Given the description of an element on the screen output the (x, y) to click on. 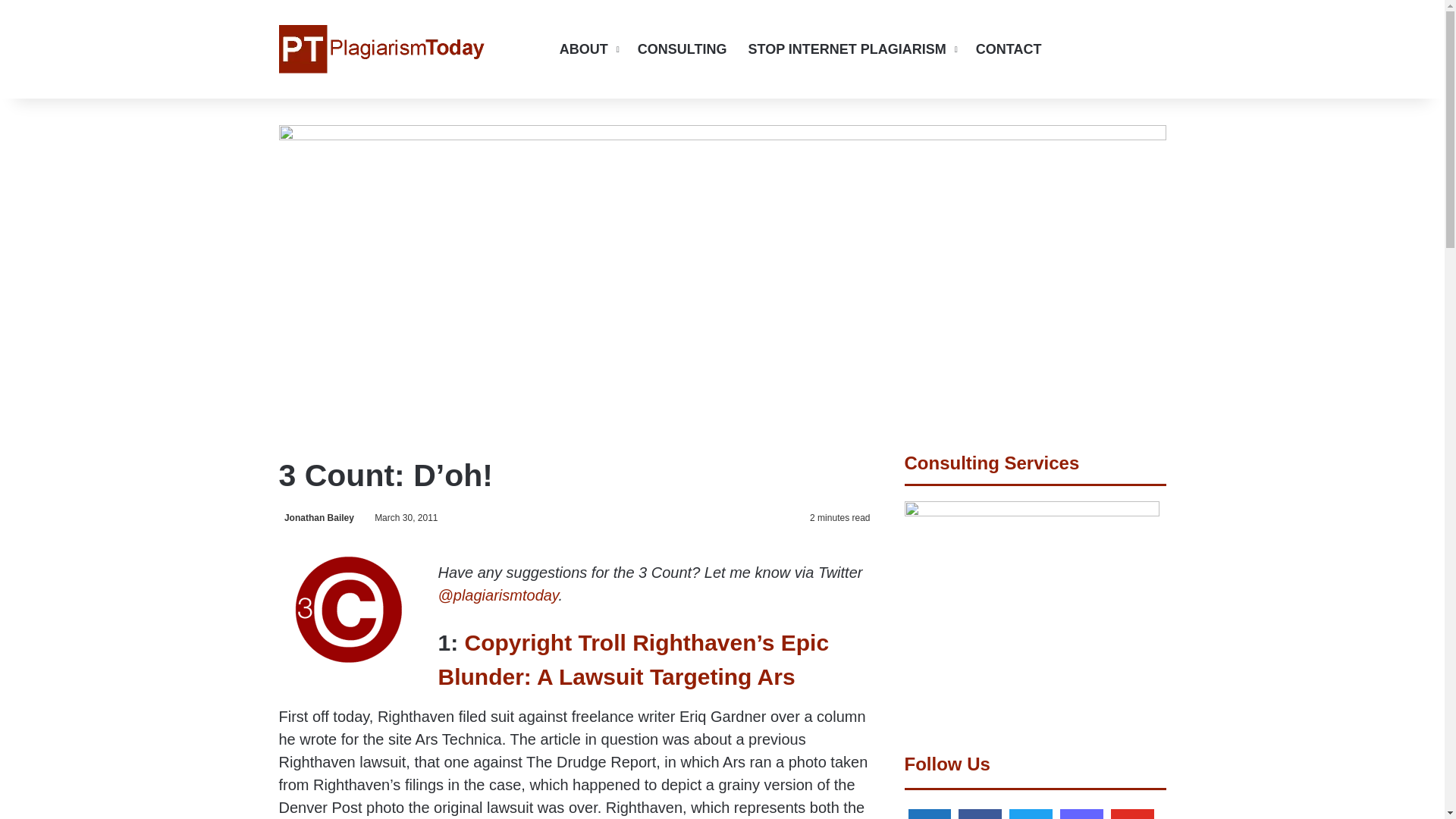
Jonathan Bailey (316, 517)
Search for (1154, 49)
Jonathan Bailey (316, 517)
Facebook (980, 812)
Default Label (1131, 812)
Facebook (1063, 49)
Mastodon (1081, 812)
STOP INTERNET PLAGIARISM (849, 49)
Default Label (929, 812)
3count004-trim (345, 608)
CONSULTING (682, 49)
Plagiarism Today (381, 49)
X (1086, 49)
ABOUT (587, 49)
Mastodon (1131, 49)
